Given the description of an element on the screen output the (x, y) to click on. 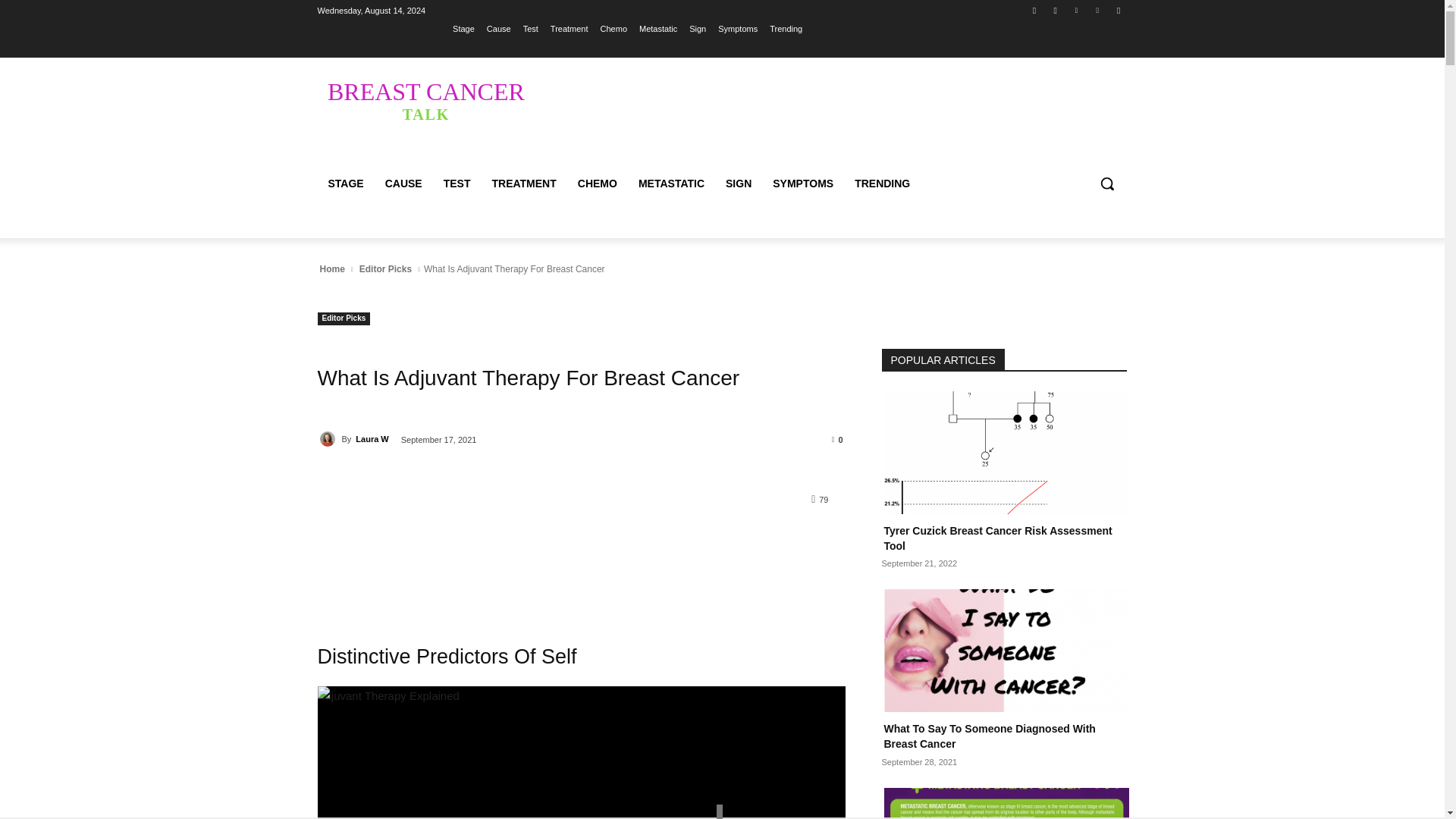
Metastatic (425, 100)
Trending (658, 28)
CHEMO (786, 28)
View all posts in Editor Picks (597, 183)
Youtube (384, 269)
STAGE (1117, 9)
Twitter (345, 183)
Vimeo (1075, 9)
Chemo (1097, 9)
